Given the description of an element on the screen output the (x, y) to click on. 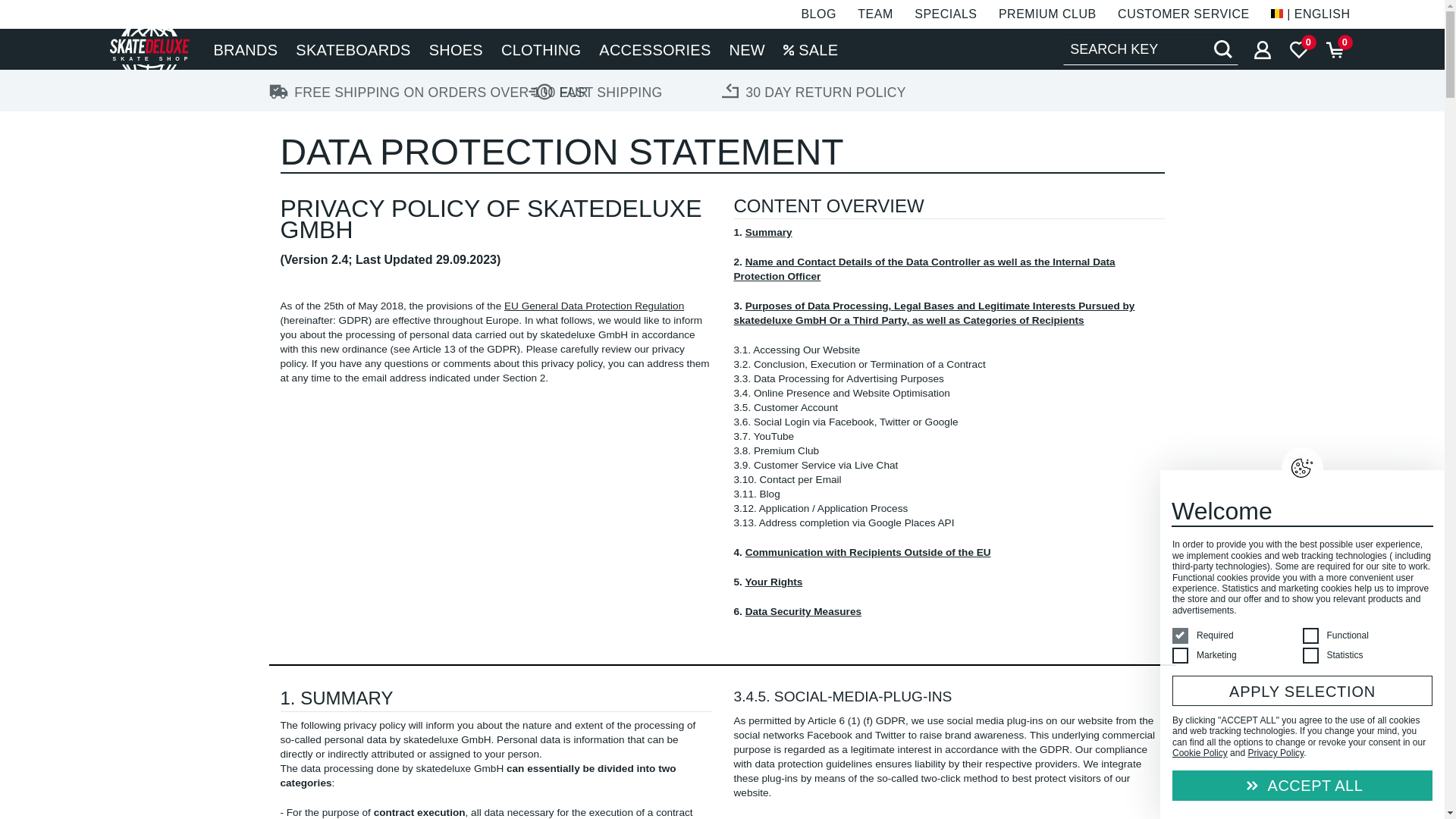
FREE SHIPPING ON ORDERS OVER 100 EUR (376, 98)
FAST SHIPPING (595, 98)
Clothing (540, 48)
Accessories (654, 48)
SKATEBOARDS (352, 48)
Wish list (1297, 48)
SHOES (456, 48)
30 DAY RETURN POLICY (812, 98)
PREMIUM CLUB (1047, 14)
My Account (1261, 48)
New (747, 48)
FREE SHIPPING ON ORDERS OVER 100 EUR (376, 88)
CUSTOMER SERVICE (1183, 13)
BRANDS (245, 48)
